Given the description of an element on the screen output the (x, y) to click on. 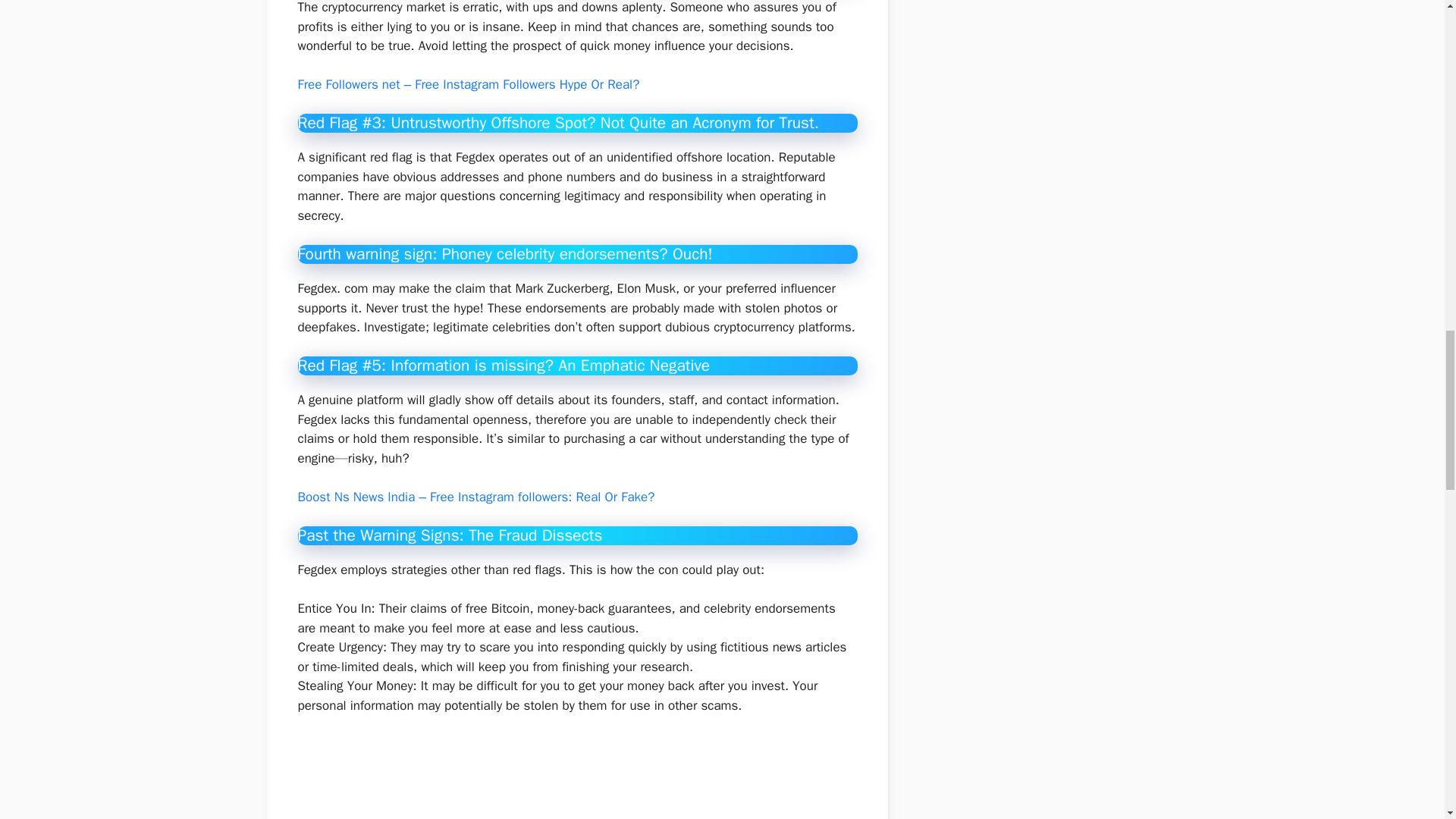
Advertisement (589, 776)
